Given the description of an element on the screen output the (x, y) to click on. 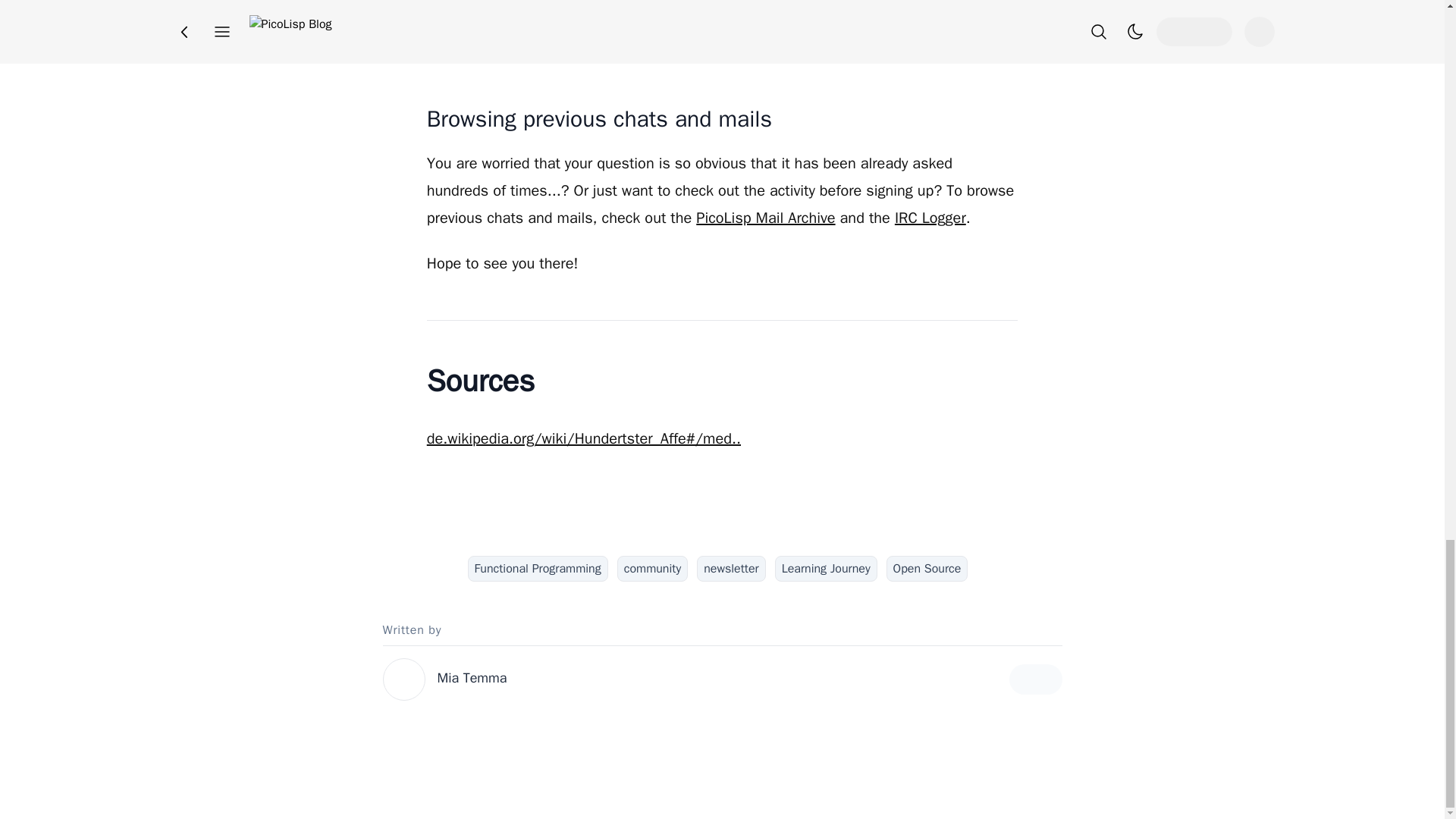
newsletter (731, 568)
IRC Logger (930, 217)
PicoLisp Mail Archive (764, 217)
Open Source (927, 568)
community (652, 568)
PicoLisp Mailing List (782, 7)
Mia Temma (471, 677)
Functional Programming (537, 568)
Learning Journey (825, 568)
